Given the description of an element on the screen output the (x, y) to click on. 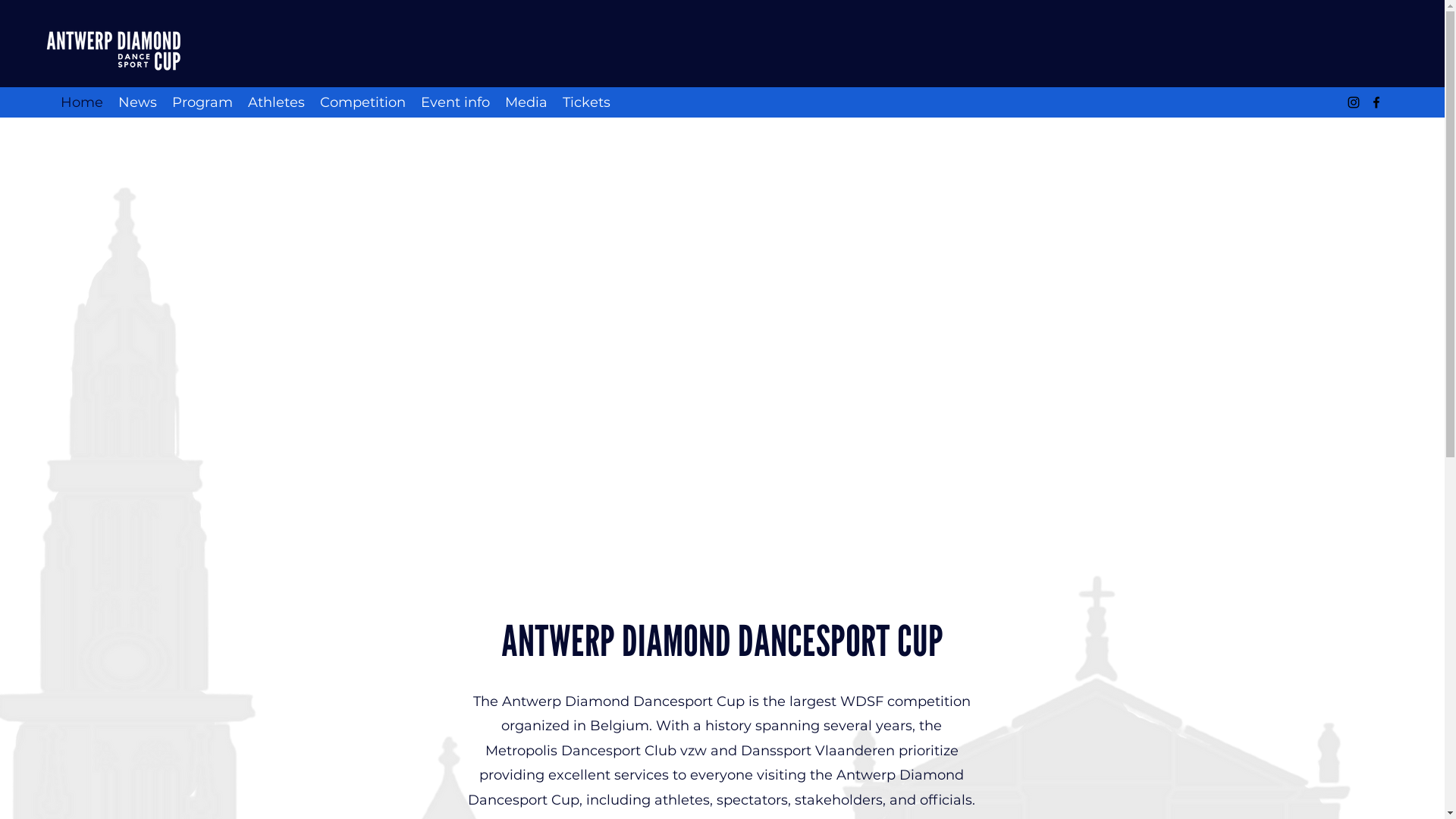
News Element type: text (137, 102)
Athletes Element type: text (276, 102)
Home Element type: text (81, 102)
Media Element type: text (526, 102)
